Given the description of an element on the screen output the (x, y) to click on. 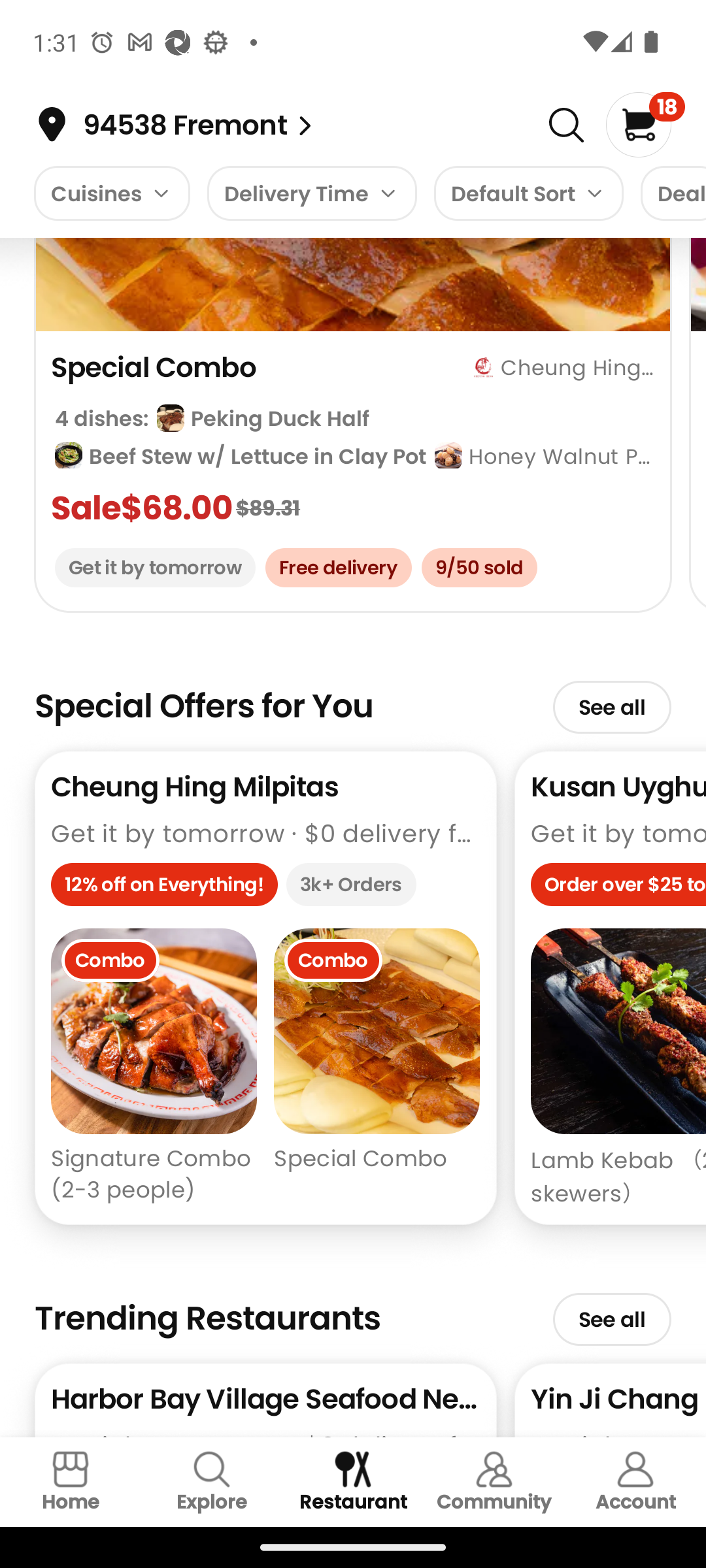
Image (565, 125)
94538 Fremont Image (304, 124)
18 (644, 124)
Cuisines Image (111, 193)
Delivery Time Image (312, 193)
Default Sort Image (528, 193)
Special Offers for You See all (353, 698)
12% off on Everything! 3k+ Orders (265, 888)
Order over $25 to get $6 off (618, 888)
Combo Signature Combo (2-3 people) (153, 1067)
Combo Special Combo (376, 1067)
Lamb Kebab （2 skewers） (618, 1067)
Trending Restaurants See all (353, 1310)
Home (70, 1482)
Explore (211, 1482)
Restaurant (352, 1482)
Community (493, 1482)
Account (635, 1482)
